Given the description of an element on the screen output the (x, y) to click on. 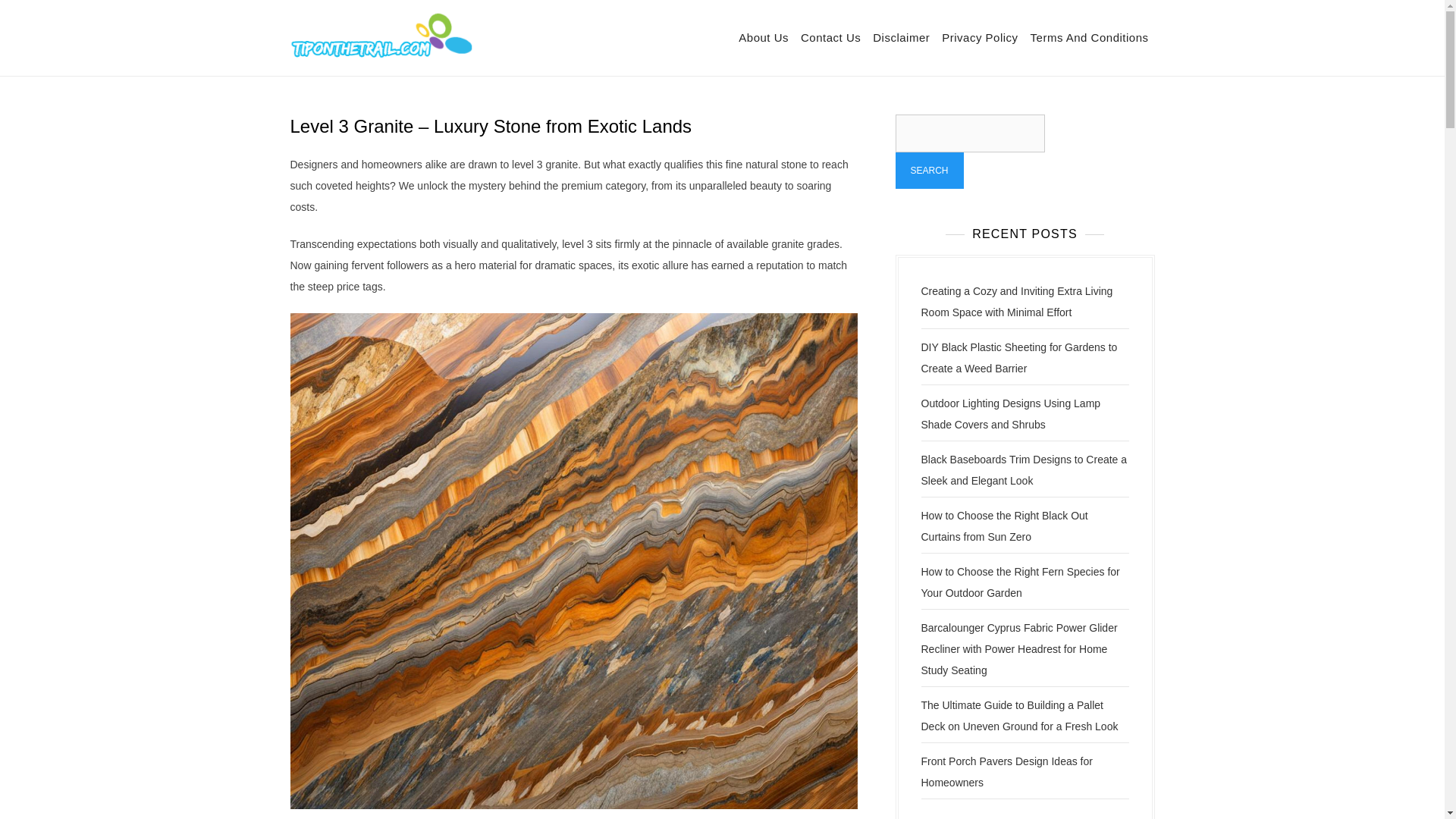
Terms And Conditions (1089, 37)
Contact Us (830, 37)
About Us (763, 37)
Front Porch Pavers Design Ideas for Homeowners (1006, 771)
SEARCH (928, 170)
How to Choose the Right Black Out Curtains from Sun Zero (1003, 525)
How to Choose the Right Fern Species for Your Outdoor Garden (1019, 581)
Tiponthetrail.com (558, 47)
Outdoor Lighting Designs Using Lamp Shade Covers and Shrubs (1010, 413)
Privacy Policy (979, 37)
Disclaimer (901, 37)
